Given the description of an element on the screen output the (x, y) to click on. 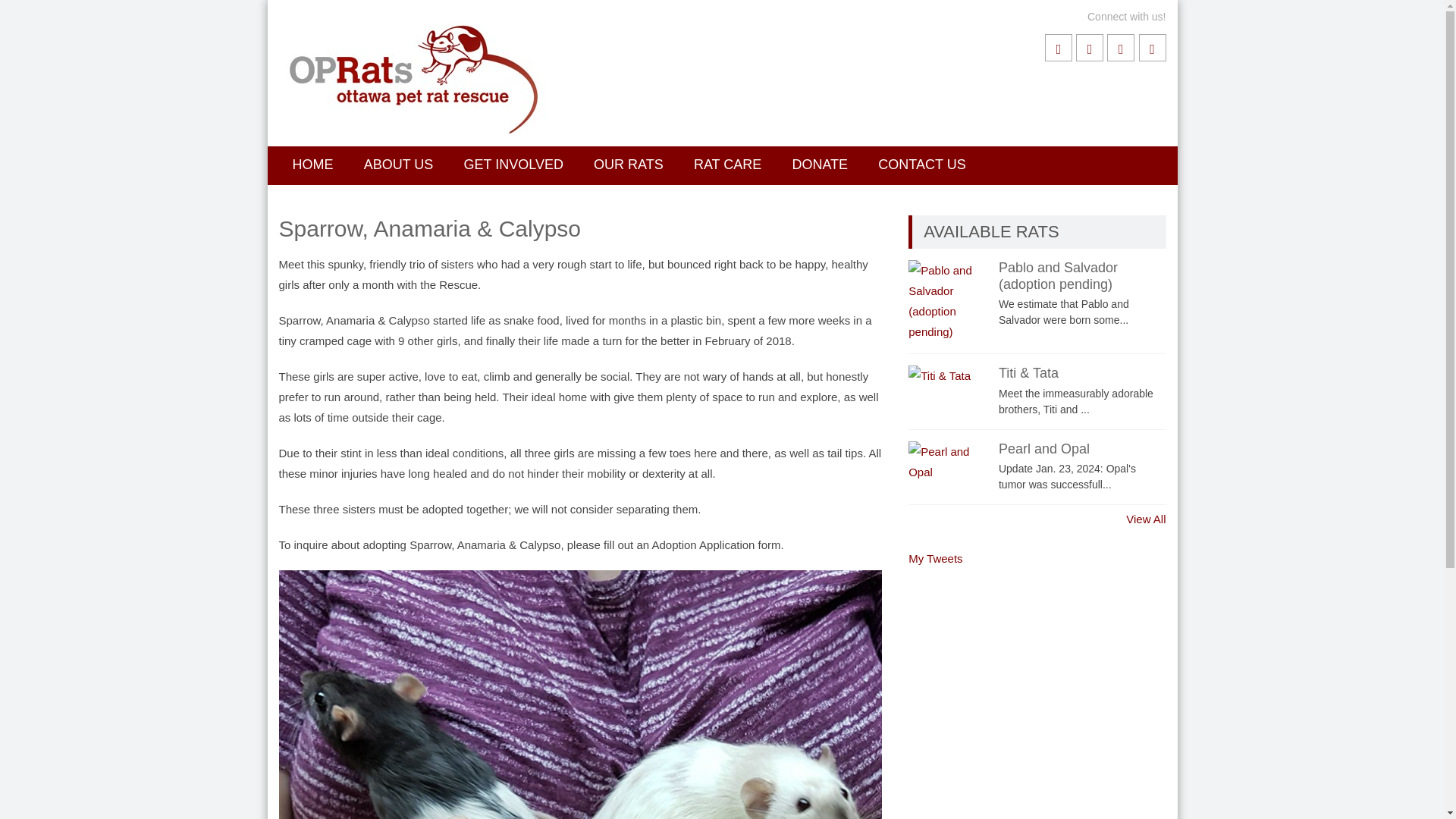
Youtube (1120, 47)
Facebook (1058, 47)
HOME (313, 164)
OUR RATS (628, 164)
GET INVOLVED (512, 164)
DONATE (819, 164)
Twitter (1089, 47)
Tumblr (1152, 47)
RAT CARE (726, 164)
CONTACT US (921, 164)
